Given the description of an element on the screen output the (x, y) to click on. 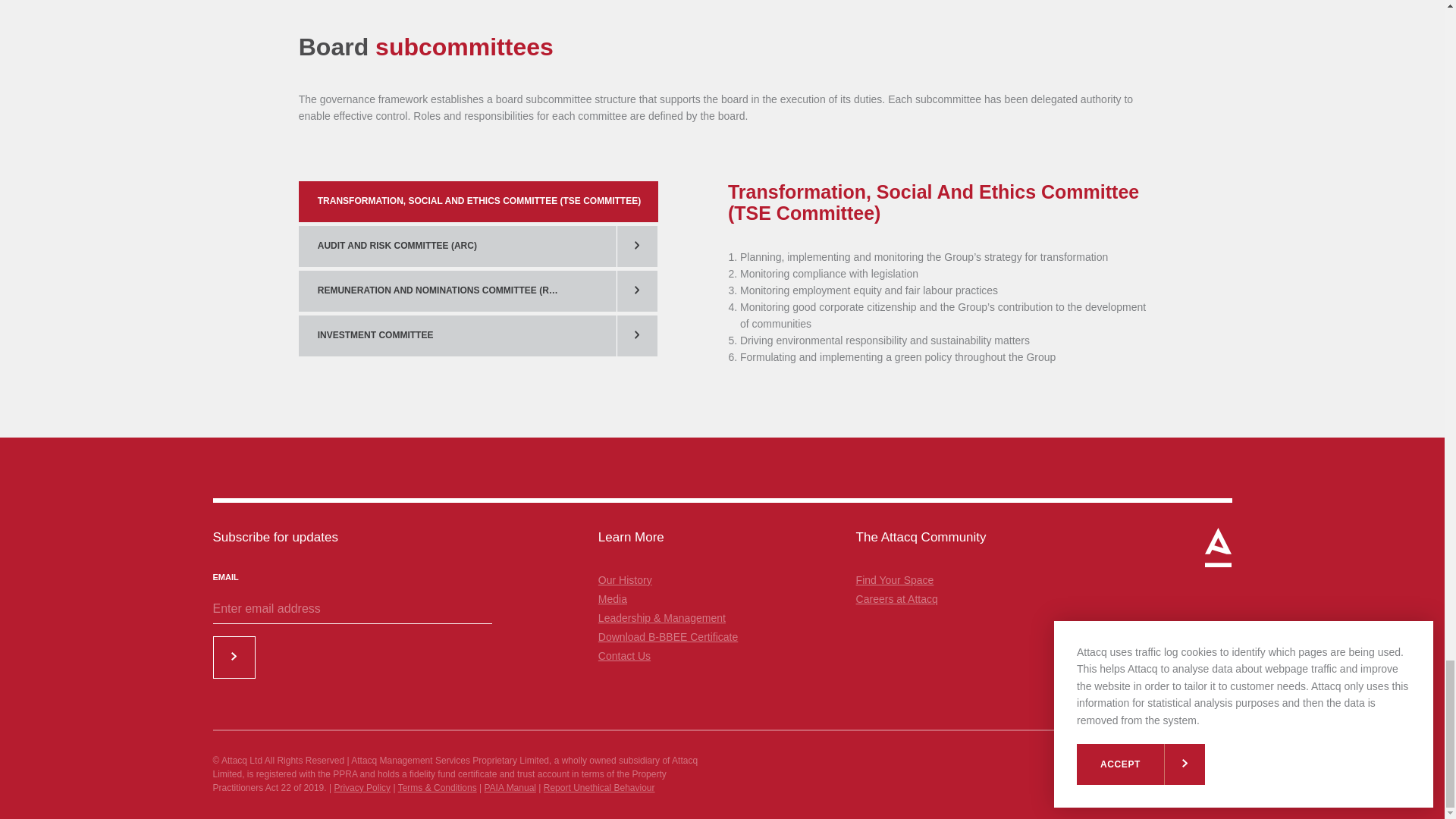
Download B-BBEE Certificate (668, 636)
INVESTMENT COMMITTEE (457, 335)
Media (612, 598)
Our History (625, 580)
